Given the description of an element on the screen output the (x, y) to click on. 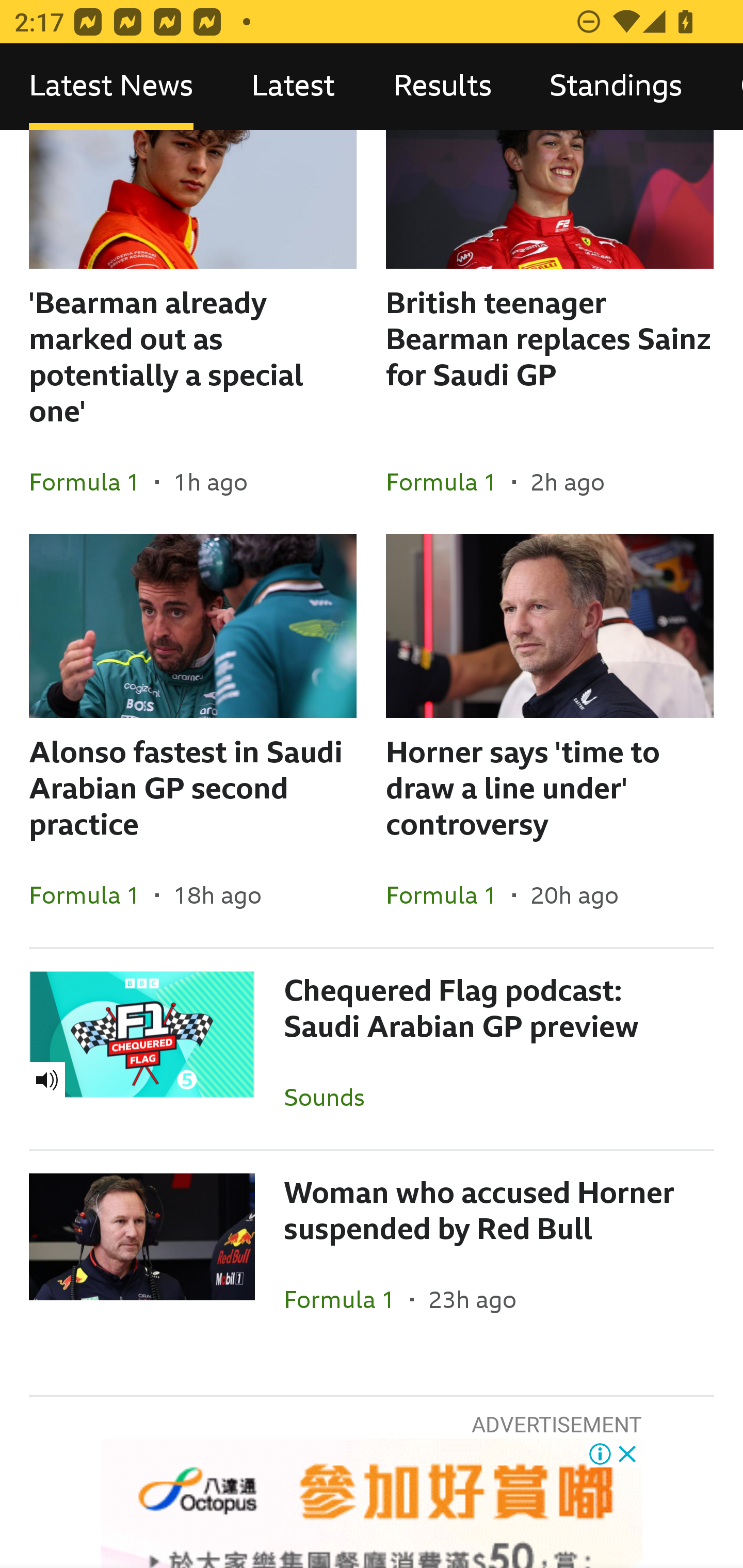
Latest News, selected Latest News (111, 86)
Latest (293, 86)
Results (442, 86)
Standings (615, 86)
Sounds In the section Sounds (330, 1096)
Advertisement (371, 1502)
